Given the description of an element on the screen output the (x, y) to click on. 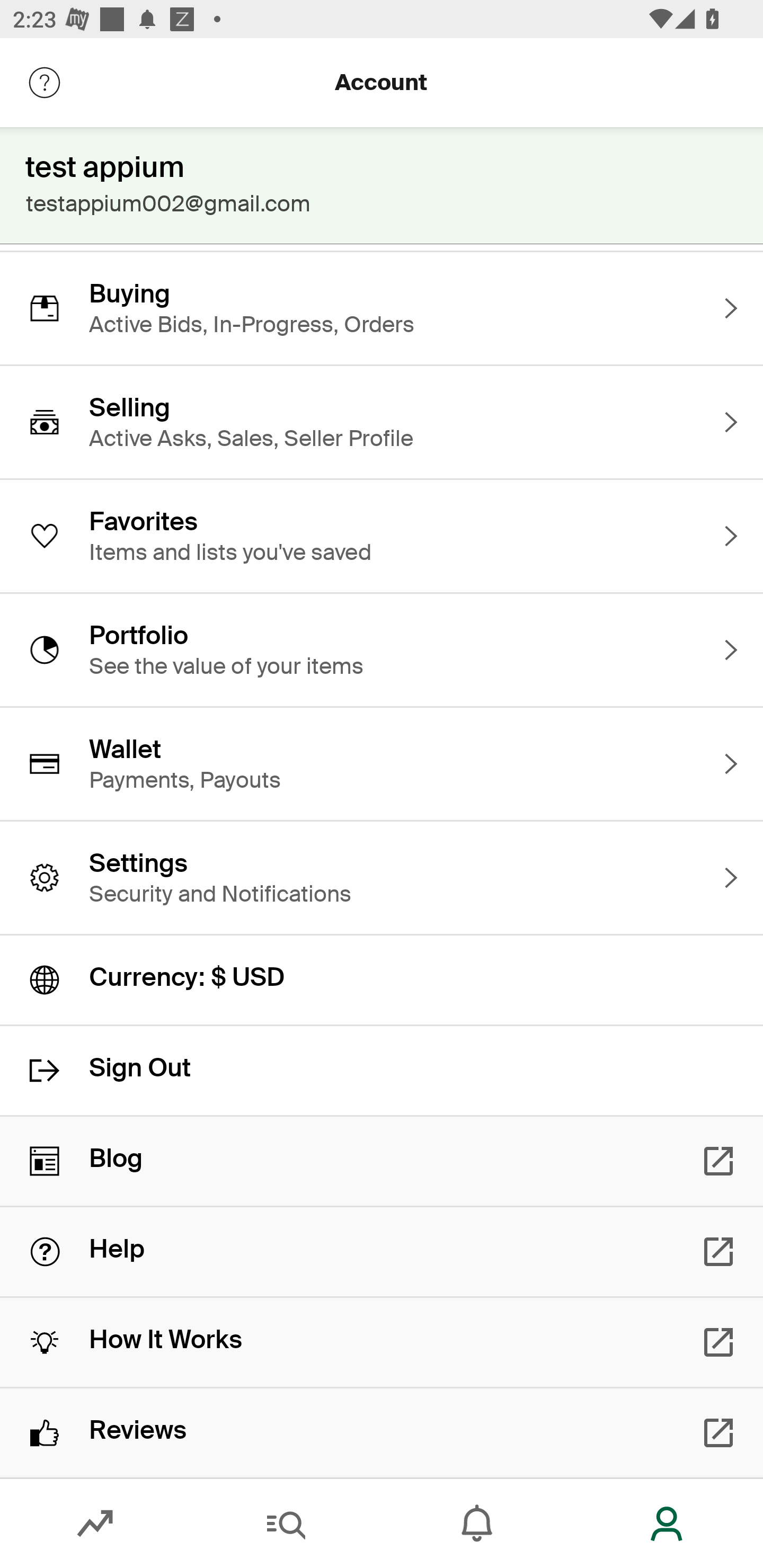
Buying Active Bids, In-Progress, Orders (381, 307)
Selling Active Asks, Sales, Seller Profile (381, 421)
Favorites Items and lists you've saved (381, 535)
Portfolio See the value of your items (381, 649)
Wallet Payments, Payouts (381, 763)
Settings Security and Notifications (381, 877)
Currency: $ USD (381, 979)
Sign Out (381, 1069)
Blog (381, 1160)
Help (381, 1251)
How It Works (381, 1342)
Reviews (381, 1432)
Market (95, 1523)
Search (285, 1523)
Inbox (476, 1523)
